Given the description of an element on the screen output the (x, y) to click on. 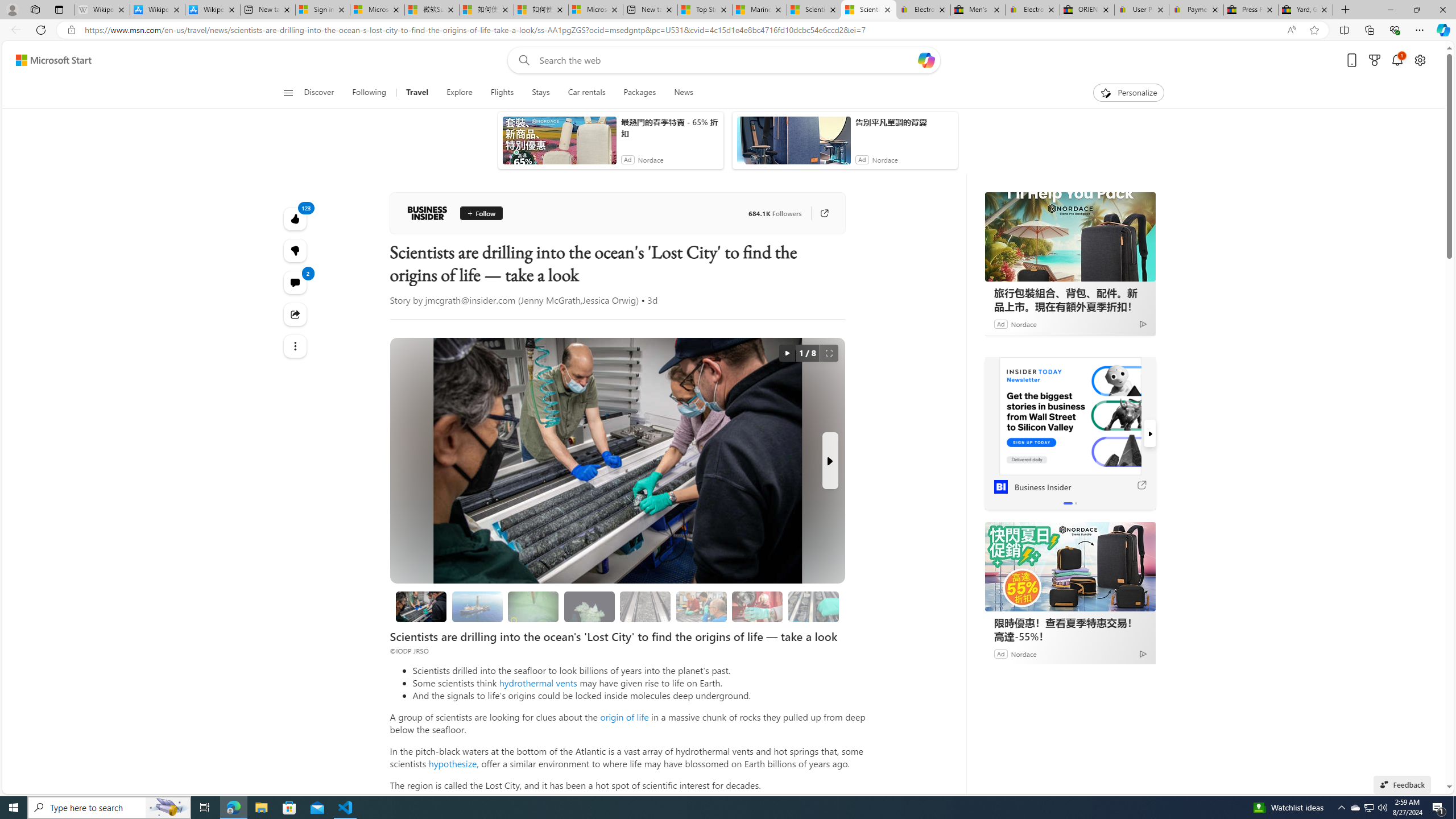
123 (295, 250)
Flights (501, 92)
anim-content (793, 144)
Share this story (295, 314)
123 Like (295, 218)
